Given the description of an element on the screen output the (x, y) to click on. 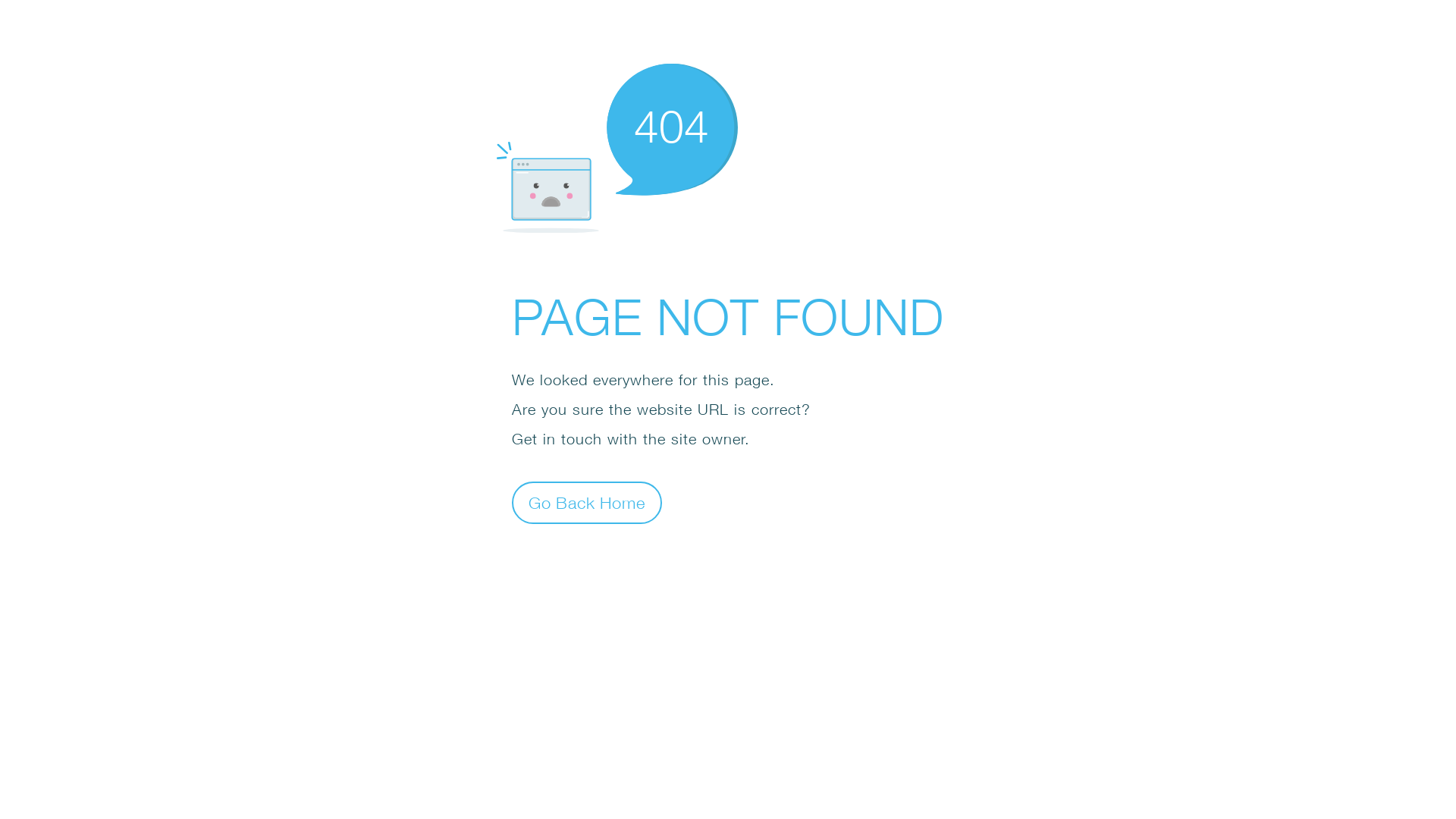
Go Back Home Element type: text (586, 502)
